Given the description of an element on the screen output the (x, y) to click on. 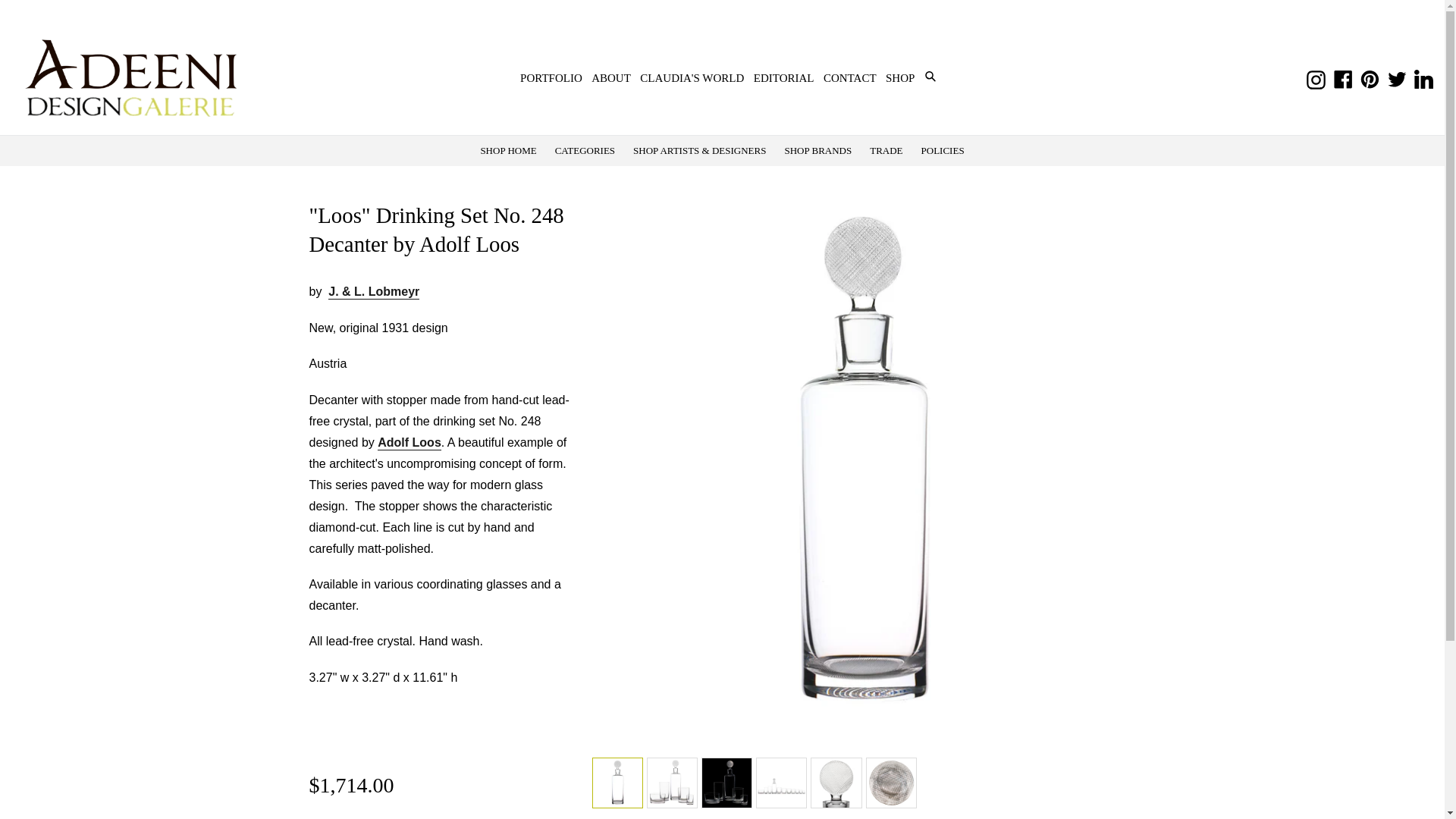
Adeeni Design Galerie on Twitter (1397, 77)
Twitter (1397, 77)
CATEGORIES (585, 150)
Adeeni Design Galerie on Instagram (1315, 78)
Adeeni Design Galerie on Facebook (1343, 77)
SHOP HOME (507, 150)
ABOUT (610, 77)
CONTACT (850, 77)
Adeeni Design Galerie on Pinterest (1369, 77)
Linkedin (1423, 77)
CLAUDIA'S WORLD (691, 77)
EDITORIAL (783, 77)
PORTFOLIO (550, 77)
Instagram (1315, 78)
Adeeni Design Galerie on Linkedin (1423, 77)
